Given the description of an element on the screen output the (x, y) to click on. 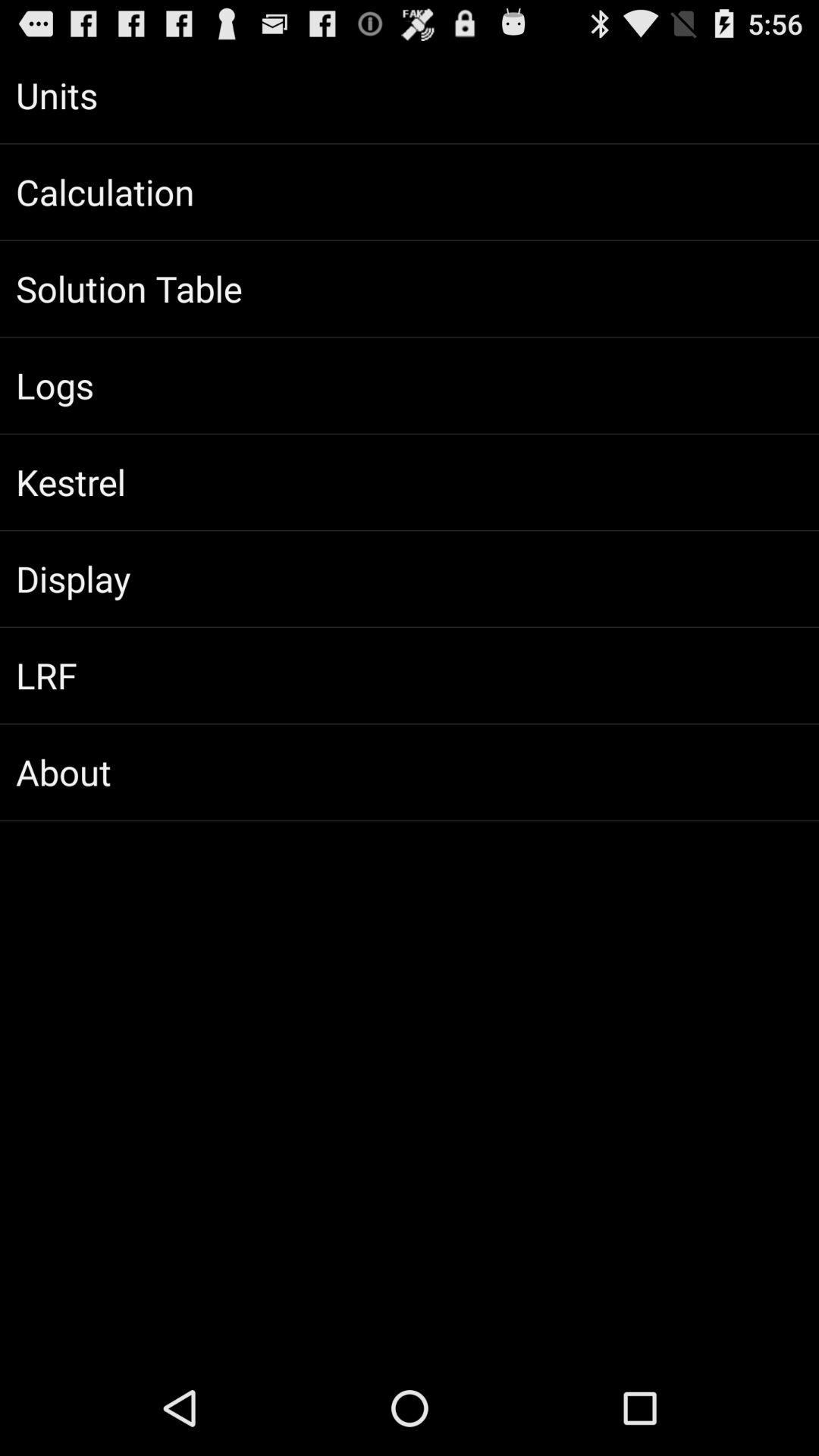
scroll to kestrel item (409, 482)
